Given the description of an element on the screen output the (x, y) to click on. 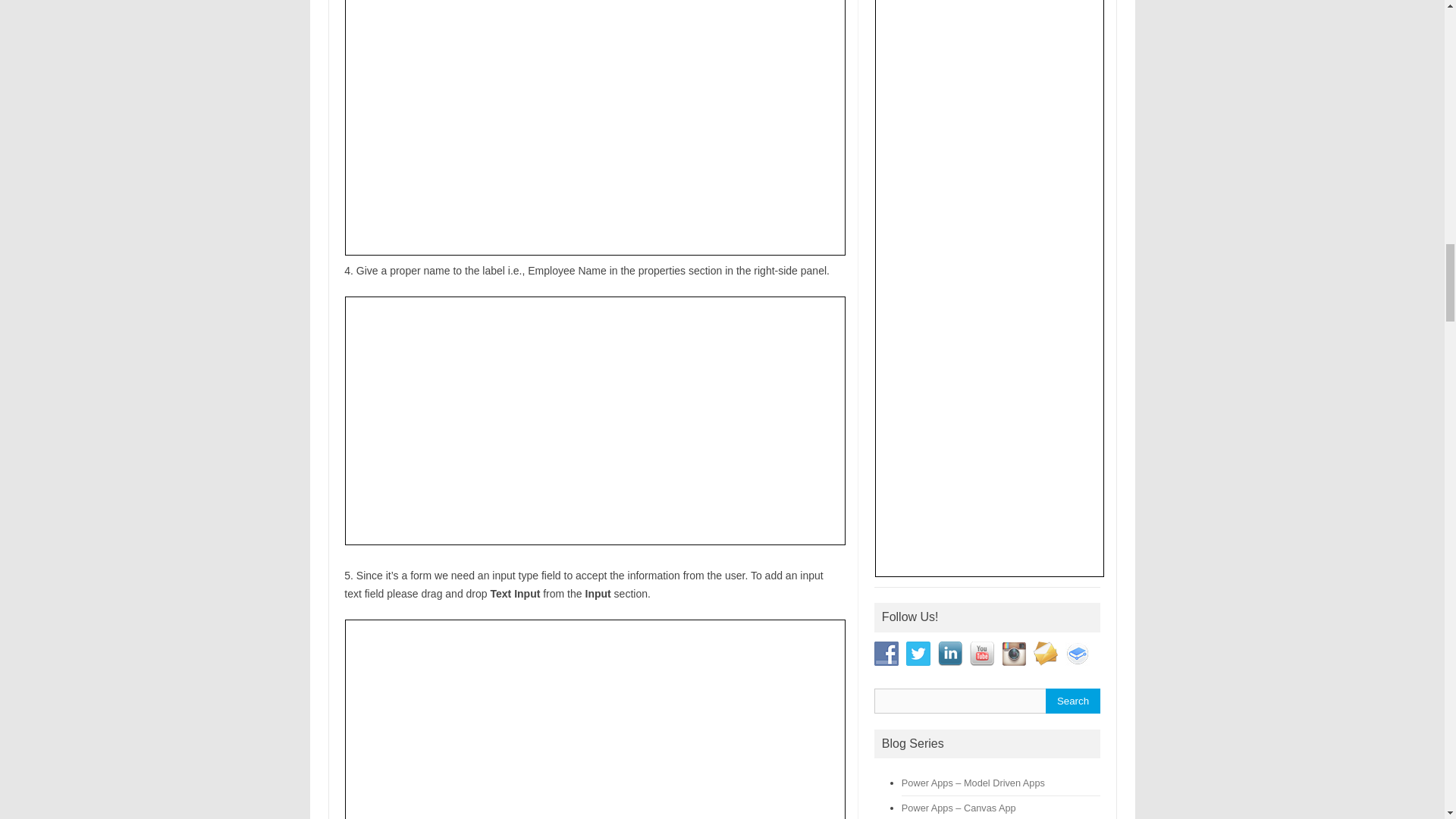
Search (1072, 700)
Follow Us on LinkedIn (949, 653)
Follow Us on YouTube (981, 653)
Follow Us on Docs (1077, 653)
Follow Us on Facebook (886, 653)
Follow Us on Twitter (917, 653)
Follow Us on Instagram (1013, 653)
Follow Us on E-mail (1045, 653)
